Given the description of an element on the screen output the (x, y) to click on. 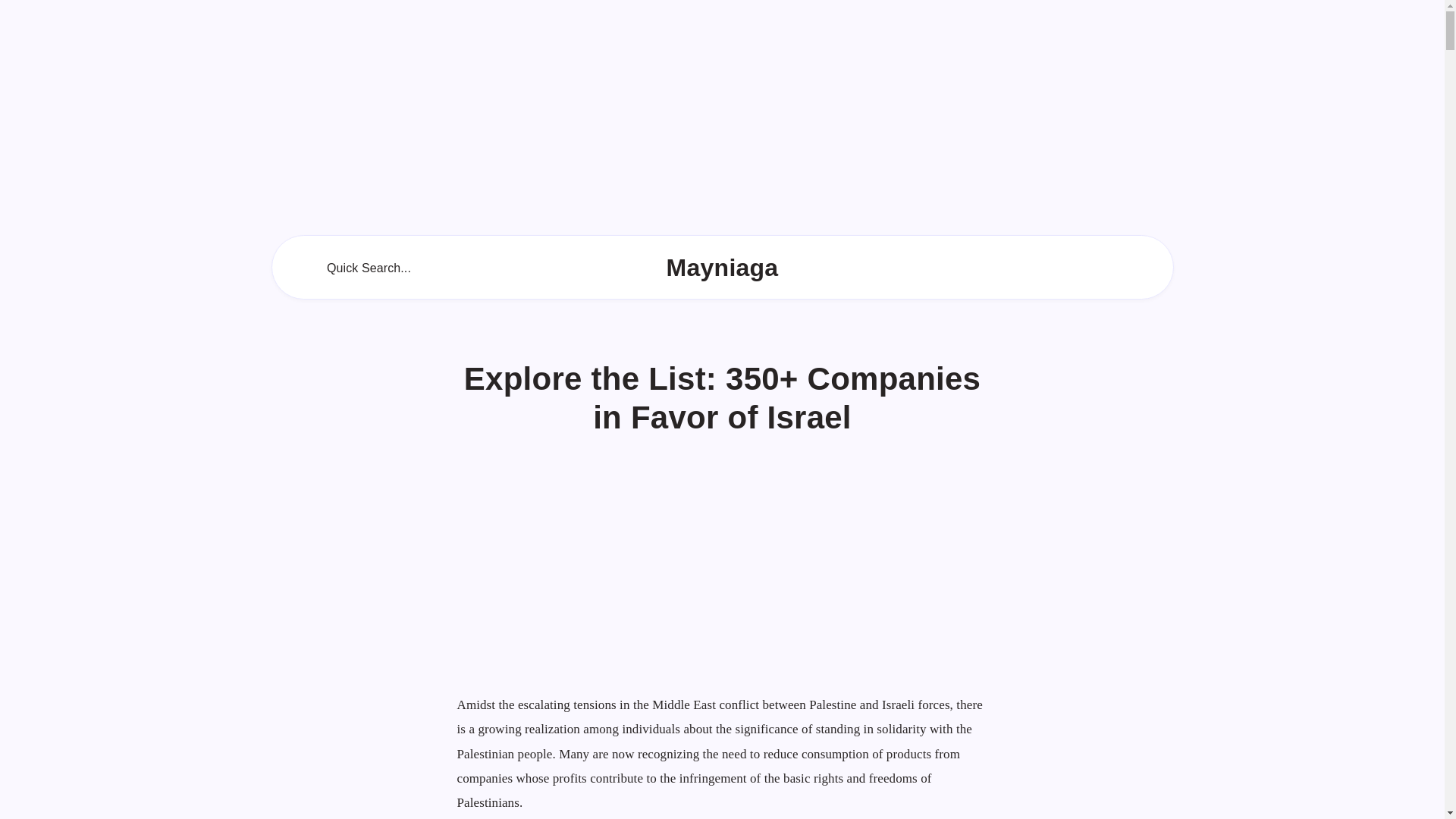
Quick Search... (355, 267)
Mayniaga (722, 266)
Advertisement (722, 583)
